Given the description of an element on the screen output the (x, y) to click on. 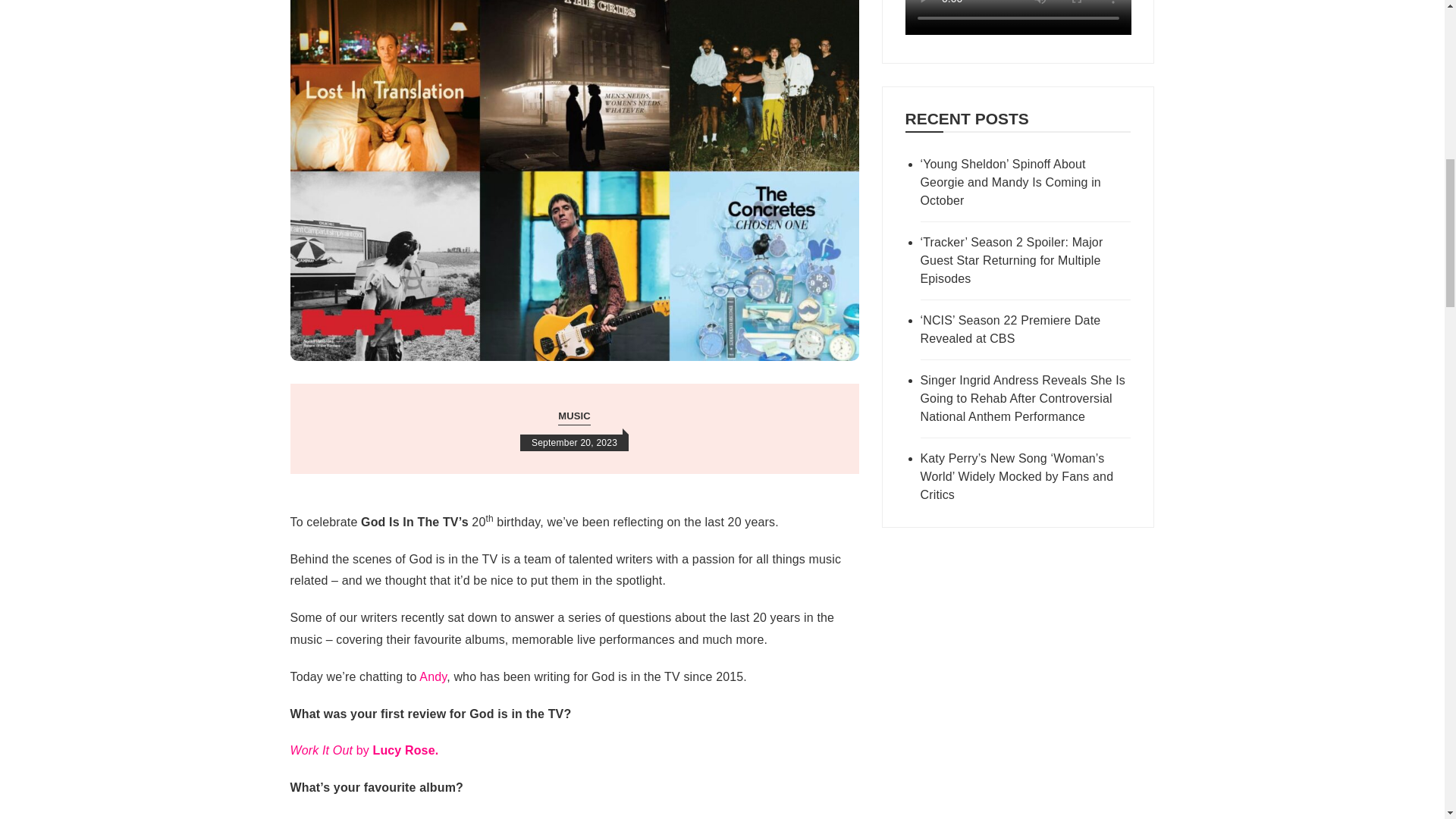
Andy (432, 676)
September 20, 2023 (573, 442)
MUSIC (574, 416)
Follow on Facebook (1018, 30)
Work It Out by Lucy Rose. (363, 749)
